Given the description of an element on the screen output the (x, y) to click on. 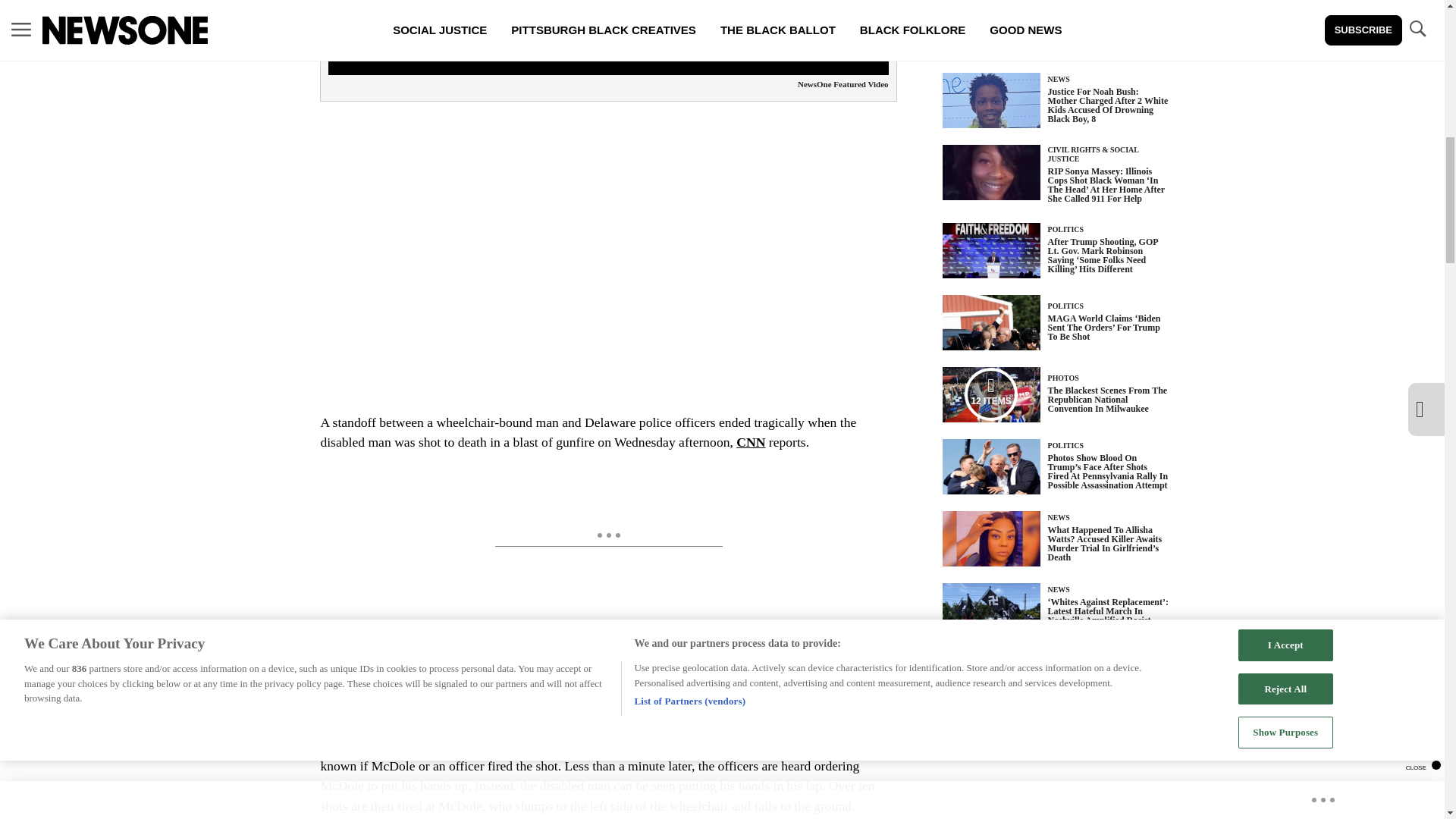
CNN (750, 441)
Media Playlist (990, 393)
